Given the description of an element on the screen output the (x, y) to click on. 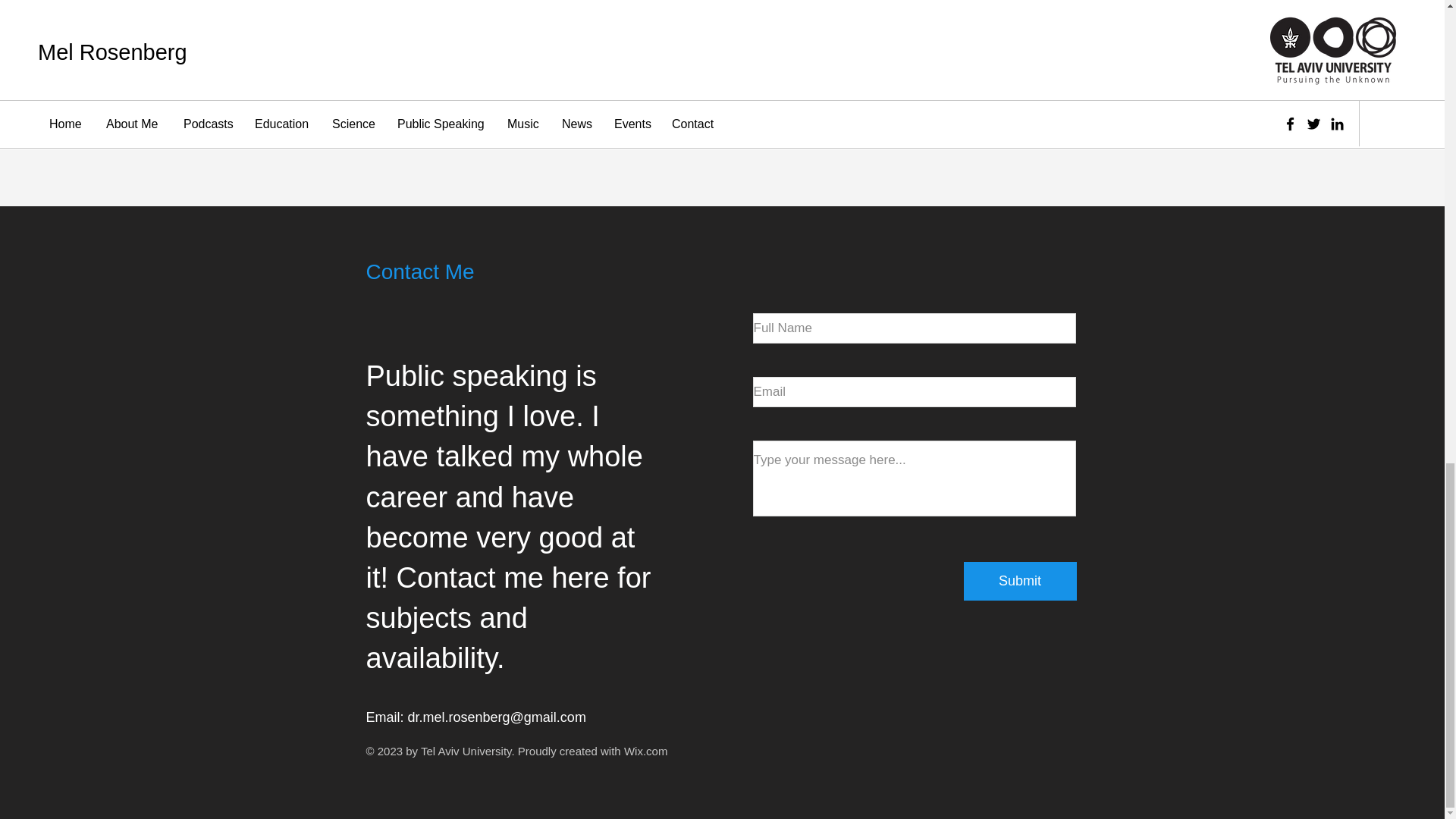
Wix.com (646, 750)
Submit (1018, 580)
